Given the description of an element on the screen output the (x, y) to click on. 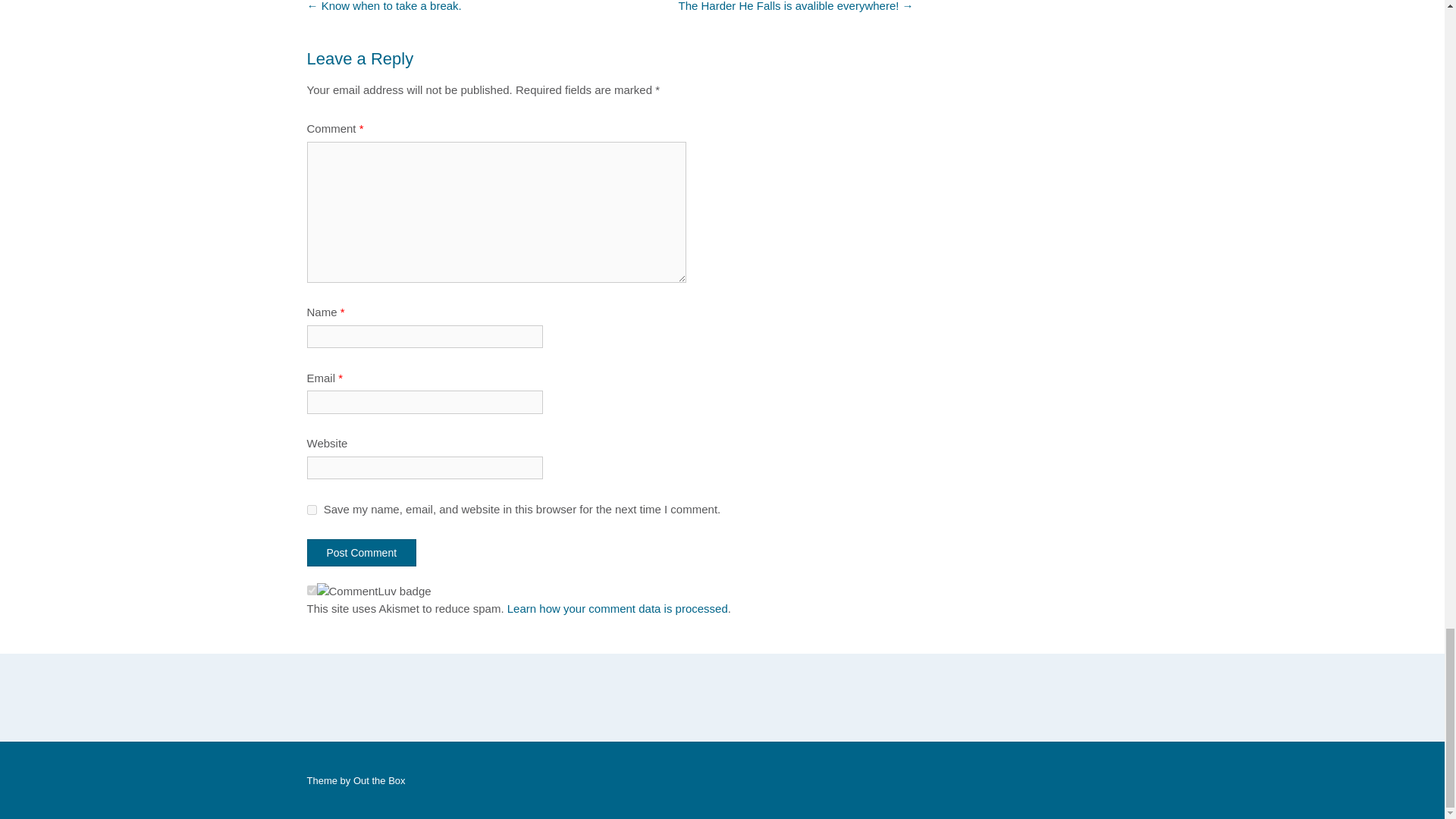
on (310, 590)
Post Comment (360, 552)
yes (310, 510)
